Given the description of an element on the screen output the (x, y) to click on. 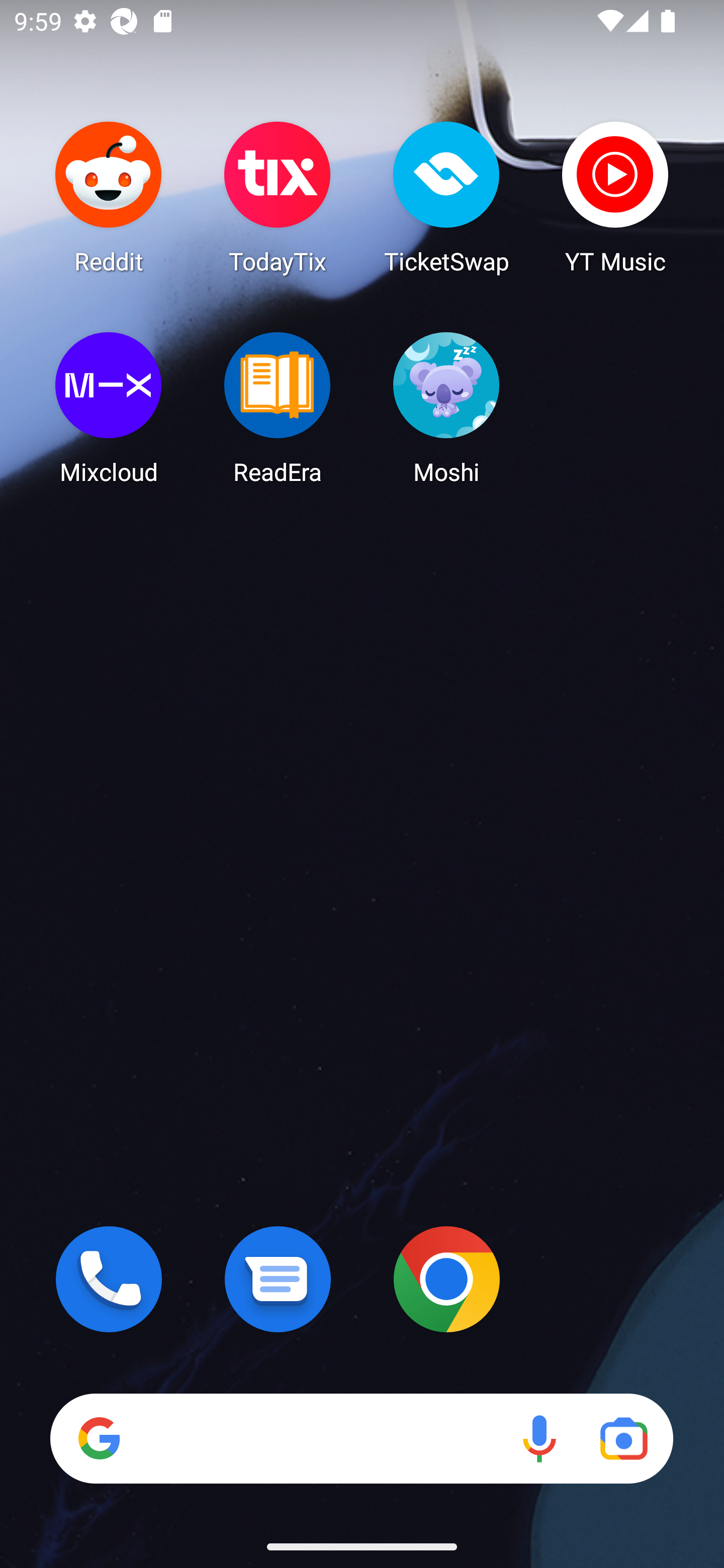
Reddit (108, 196)
TodayTix (277, 196)
TicketSwap (445, 196)
YT Music (615, 196)
Mixcloud (108, 407)
ReadEra (277, 407)
Moshi (445, 407)
Phone (108, 1279)
Messages (277, 1279)
Chrome (446, 1279)
Search Voice search Google Lens (361, 1438)
Voice search (539, 1438)
Google Lens (623, 1438)
